Given the description of an element on the screen output the (x, y) to click on. 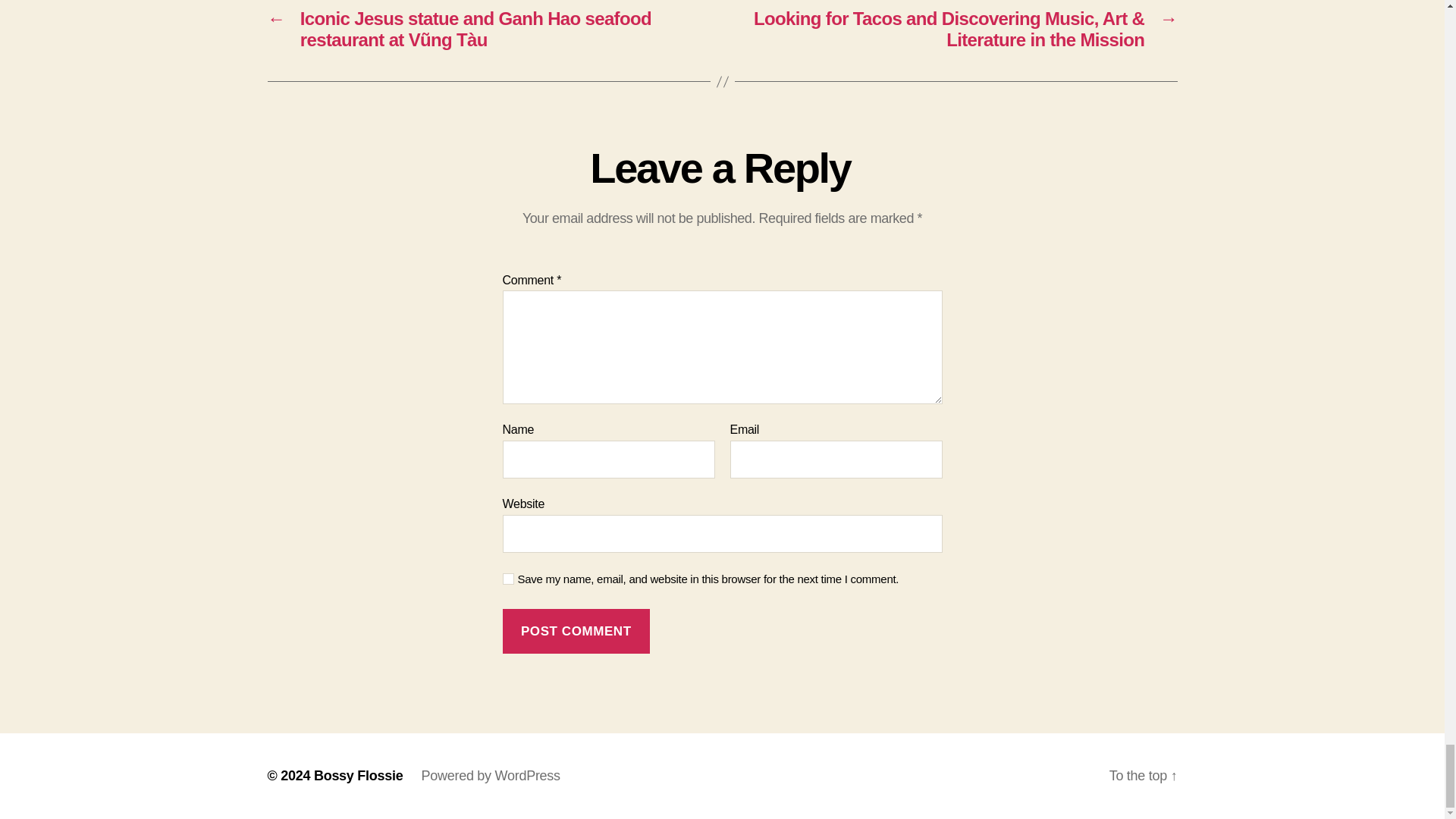
yes (507, 578)
Post Comment (575, 631)
